Given the description of an element on the screen output the (x, y) to click on. 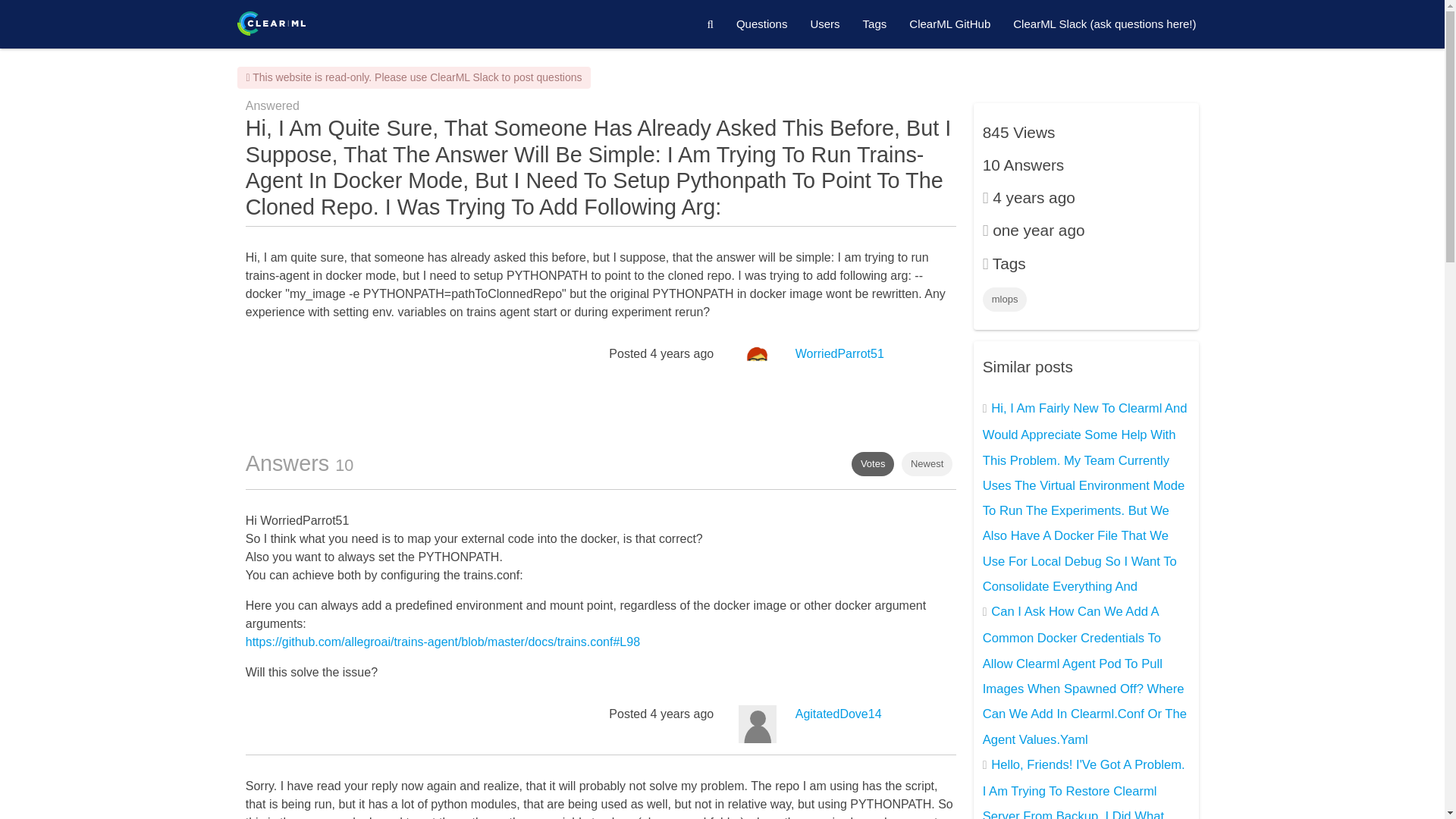
Questions (762, 24)
AgitatedDove14 (838, 713)
Votes (873, 463)
Users (823, 24)
ClearML GitHub (949, 24)
Tags (874, 24)
ClearML GitHub (949, 24)
WorriedParrot51 (838, 353)
15 July 2020, 08:22 (682, 353)
Newest (926, 463)
